Given the description of an element on the screen output the (x, y) to click on. 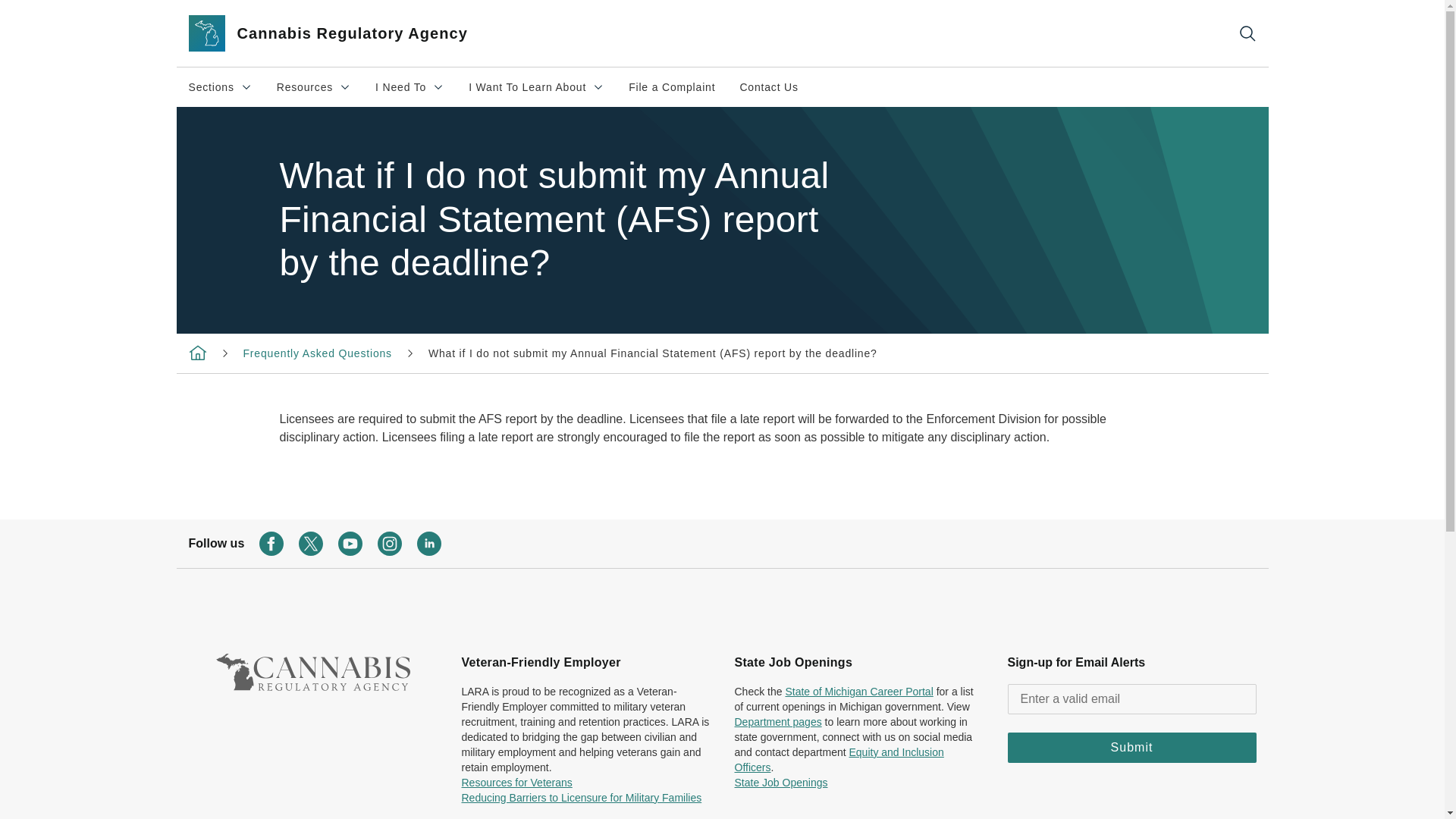
Cannabis Regulatory Agency (196, 351)
Contact Us (536, 87)
Cannabis Regulatory Agency (409, 87)
File a Complaint (767, 87)
Frequently Asked Questions (345, 33)
